Given the description of an element on the screen output the (x, y) to click on. 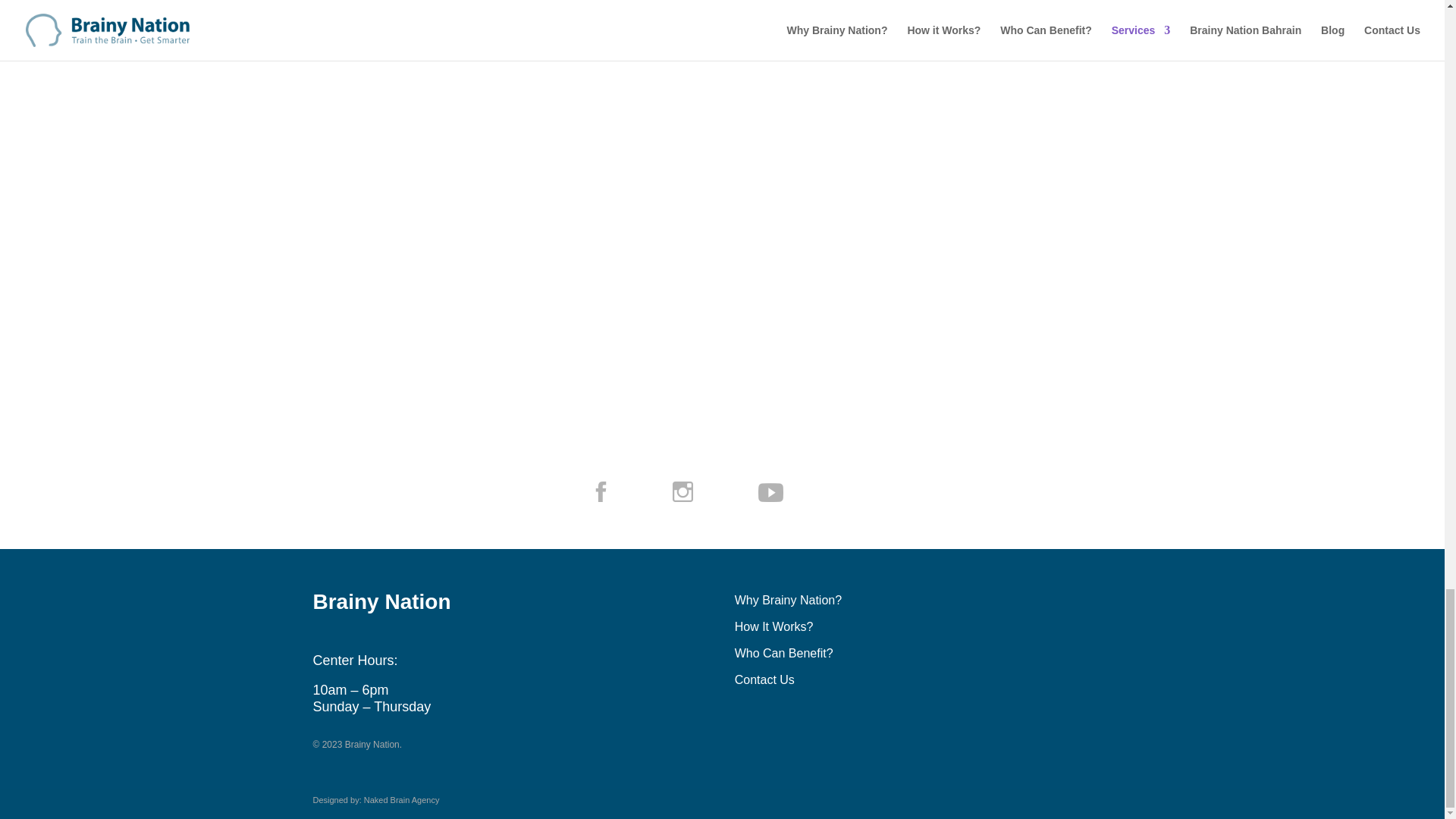
How It Works? (774, 626)
Contact Us (764, 679)
Who Can Benefit? (783, 653)
Why Brainy Nation? (788, 599)
